Given the description of an element on the screen output the (x, y) to click on. 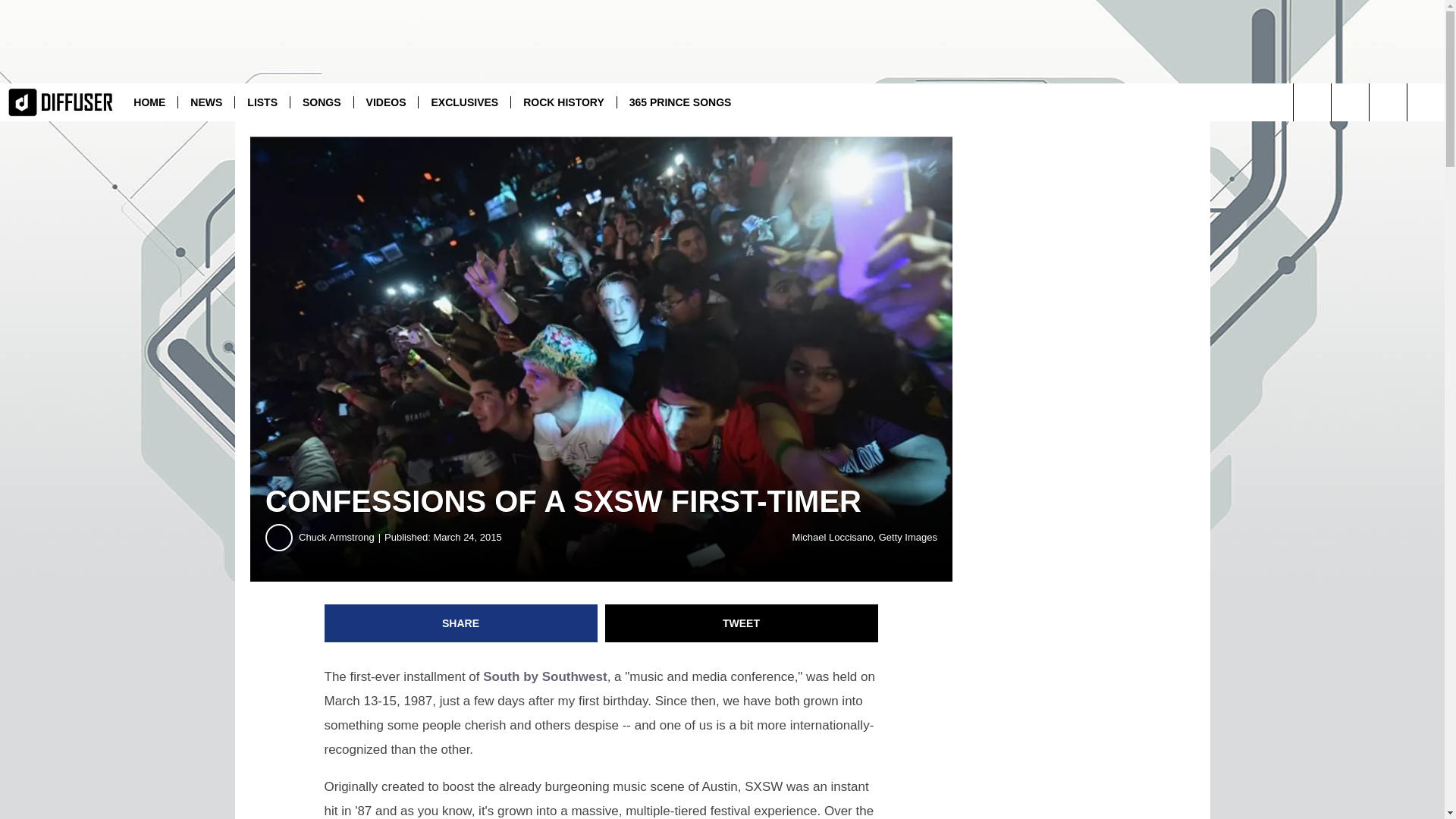
South by Southwest (545, 676)
LISTS (261, 102)
ROCK HISTORY (563, 102)
EXCLUSIVES (464, 102)
NEWS (205, 102)
SHARE (460, 623)
Chuck Armstrong (341, 537)
VIDEOS (386, 102)
SHARE (460, 623)
Visit us on Youtube (1350, 102)
